Given the description of an element on the screen output the (x, y) to click on. 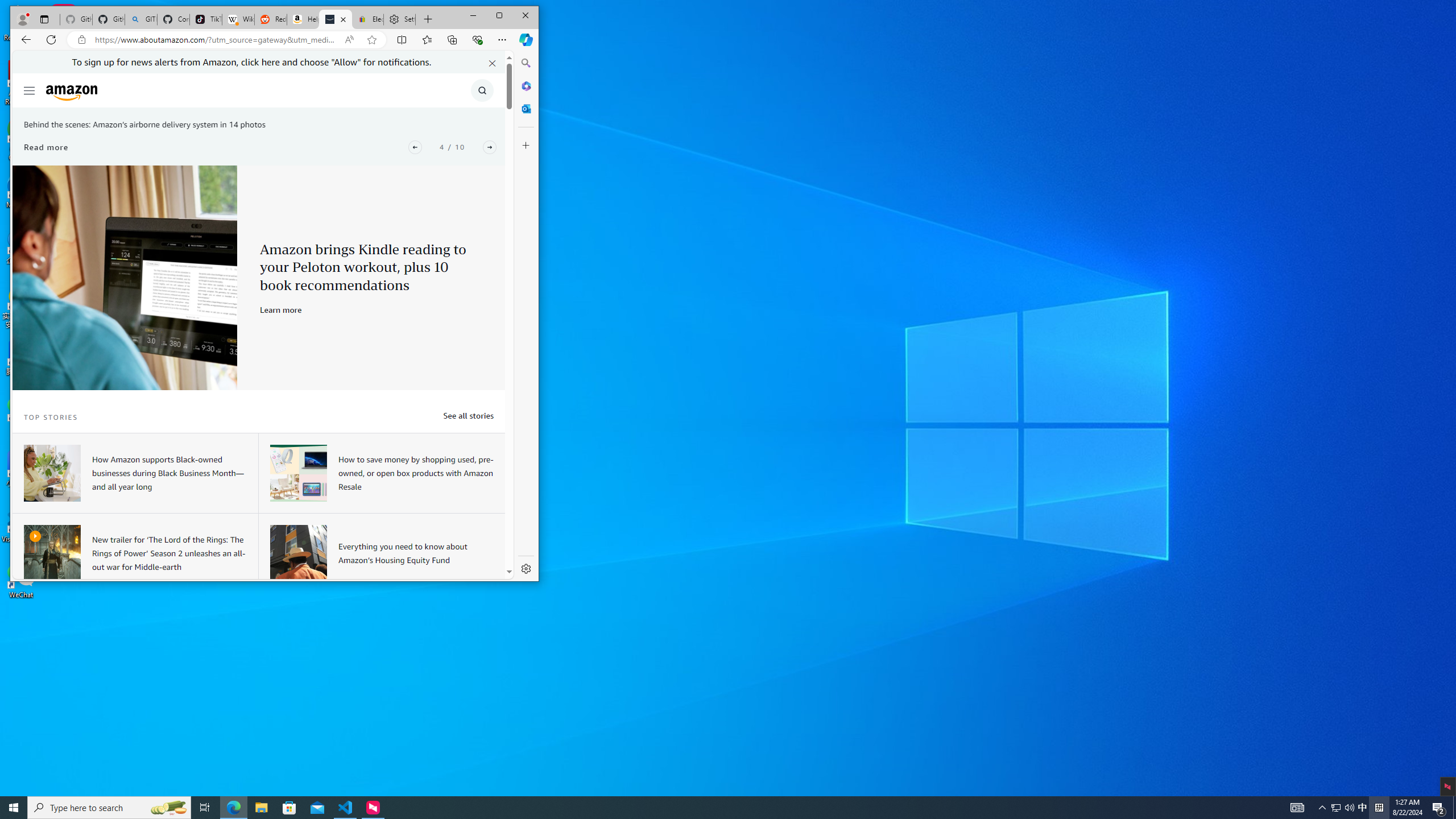
Back (25, 39)
Menu (29, 90)
Collections (452, 39)
Microsoft 365 (525, 85)
Q2790: 100% (1349, 807)
Tray Input Indicator - Chinese (Simplified, China) (1378, 807)
Type here to search (108, 807)
